Given the description of an element on the screen output the (x, y) to click on. 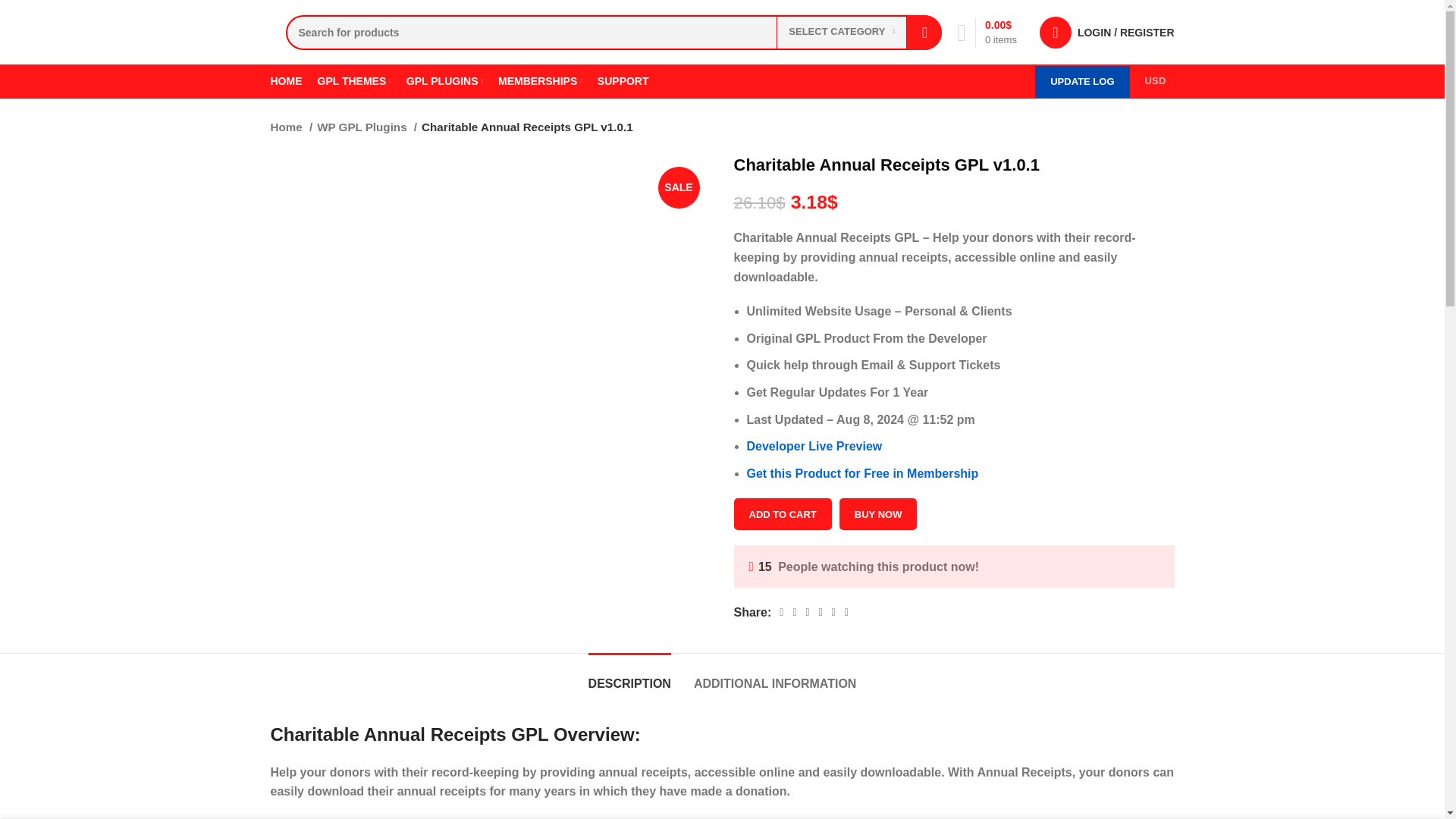
Search for products (613, 32)
My account (1107, 31)
SELECT CATEGORY (841, 32)
Shopping cart (987, 31)
SELECT CATEGORY (841, 32)
